Given the description of an element on the screen output the (x, y) to click on. 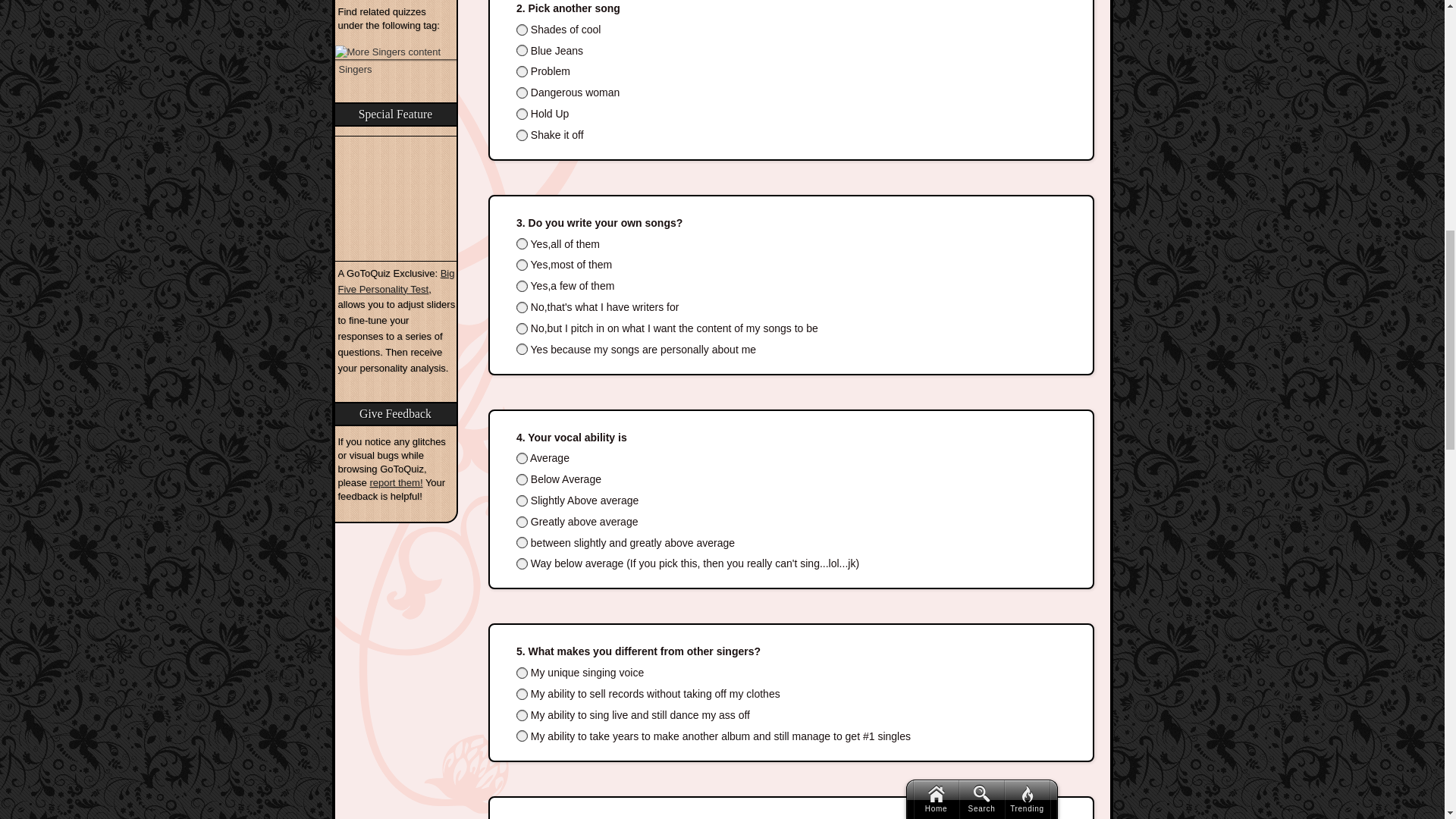
1 (521, 458)
3 (521, 285)
2 (521, 265)
1 (521, 30)
Singers (395, 61)
Big Five Personality Test (395, 280)
3 (521, 71)
2 (521, 479)
Take our featured personality test (395, 198)
1 (521, 243)
